Given the description of an element on the screen output the (x, y) to click on. 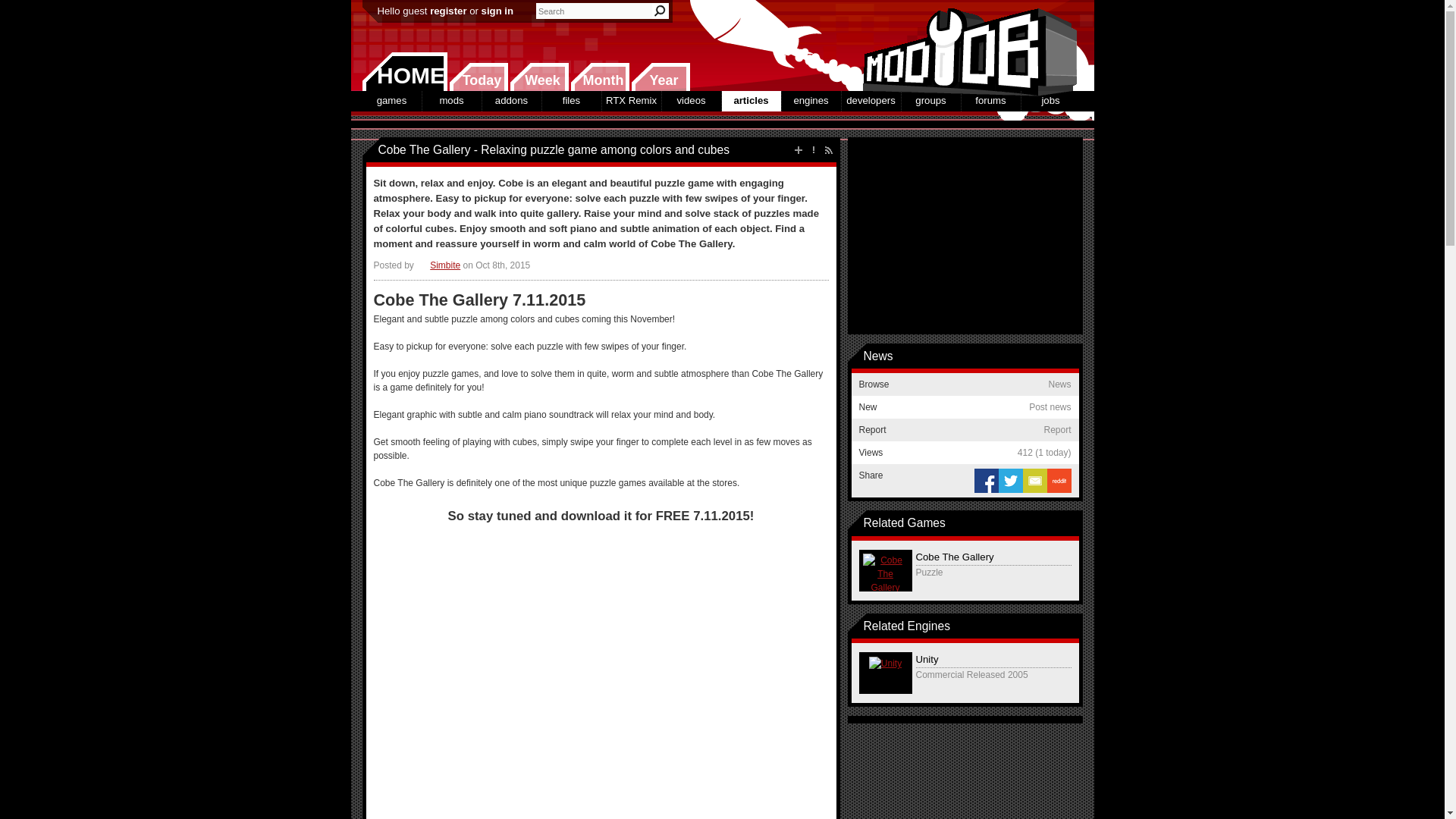
register (447, 10)
mods (451, 100)
New today (478, 76)
HOME (405, 71)
Week (539, 76)
sign in (497, 10)
New this month (599, 76)
games (392, 100)
RSS (828, 150)
files (570, 100)
Search (660, 10)
Today (478, 76)
RTX Remix (631, 100)
New this year (660, 76)
Article Manager (438, 265)
